Given the description of an element on the screen output the (x, y) to click on. 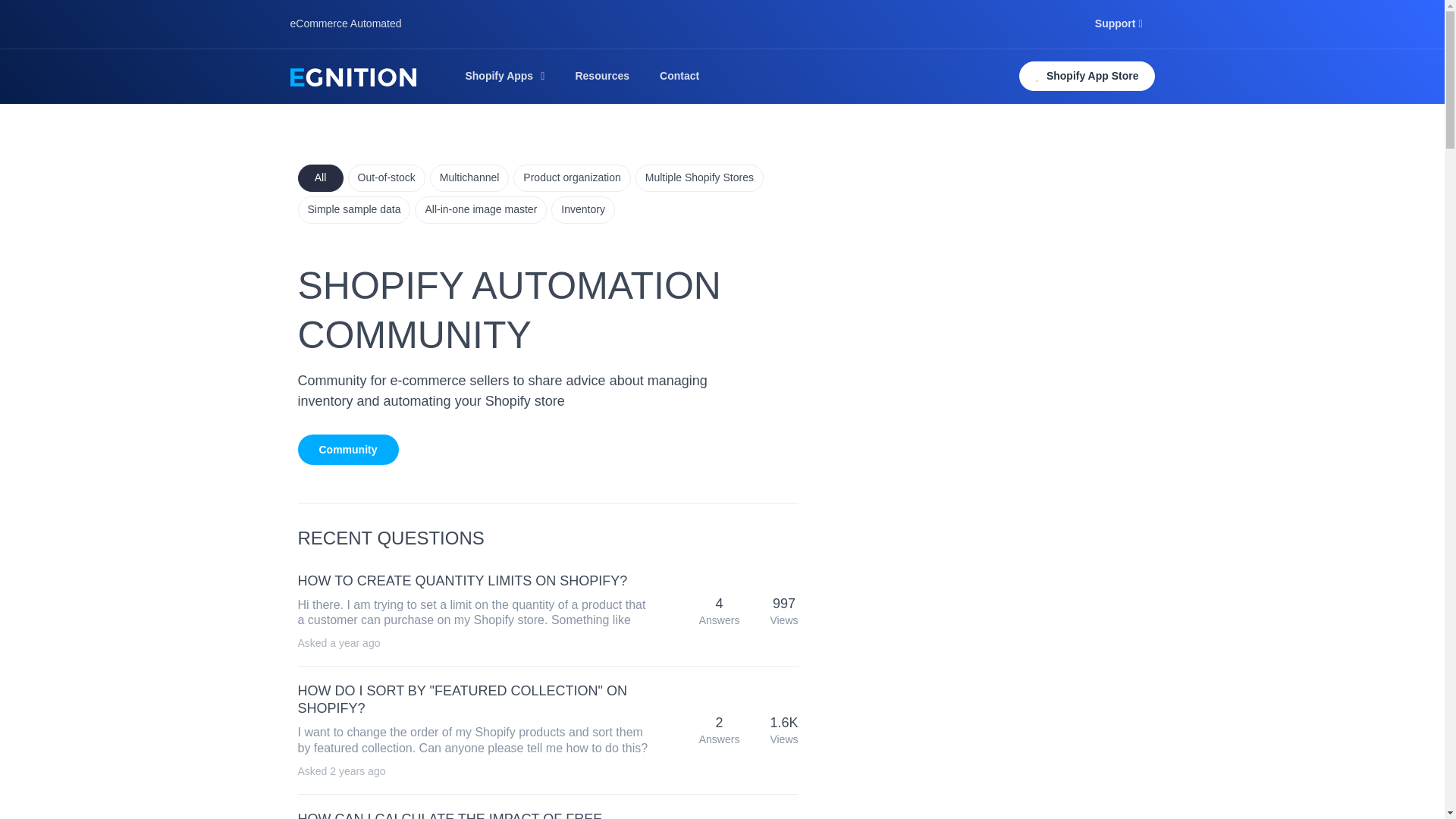
Product organization (571, 177)
Out-of-stock (386, 177)
View Apps in the Shopify App Store (1086, 75)
All-in-one image master (480, 209)
Resources (602, 76)
Multichannel (469, 177)
Inventory (582, 209)
Simple sample data (353, 209)
